Given the description of an element on the screen output the (x, y) to click on. 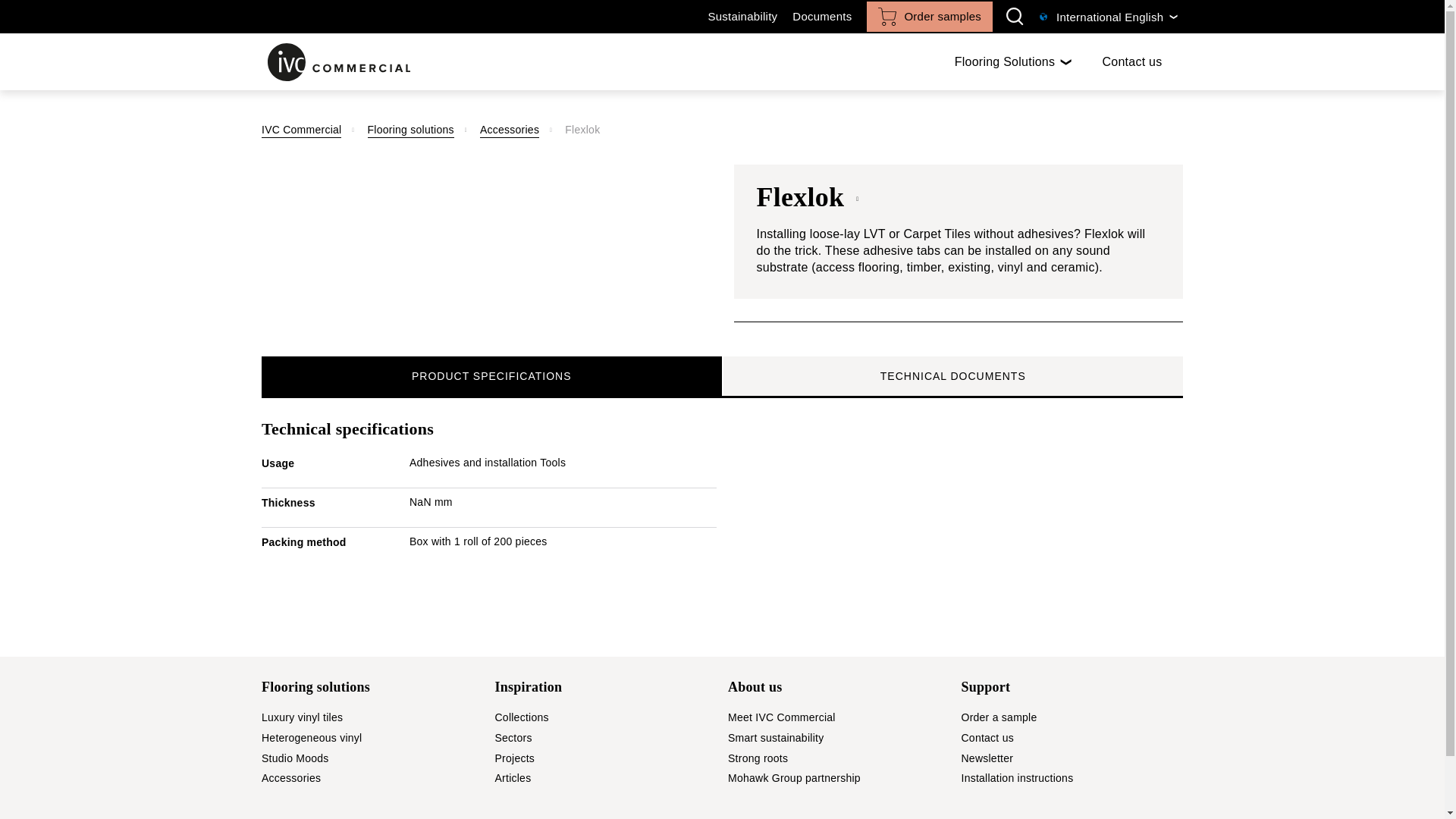
Flooring Solutions (1013, 61)
Documents (722, 377)
Sustainability (821, 16)
Order samples (742, 16)
